Given the description of an element on the screen output the (x, y) to click on. 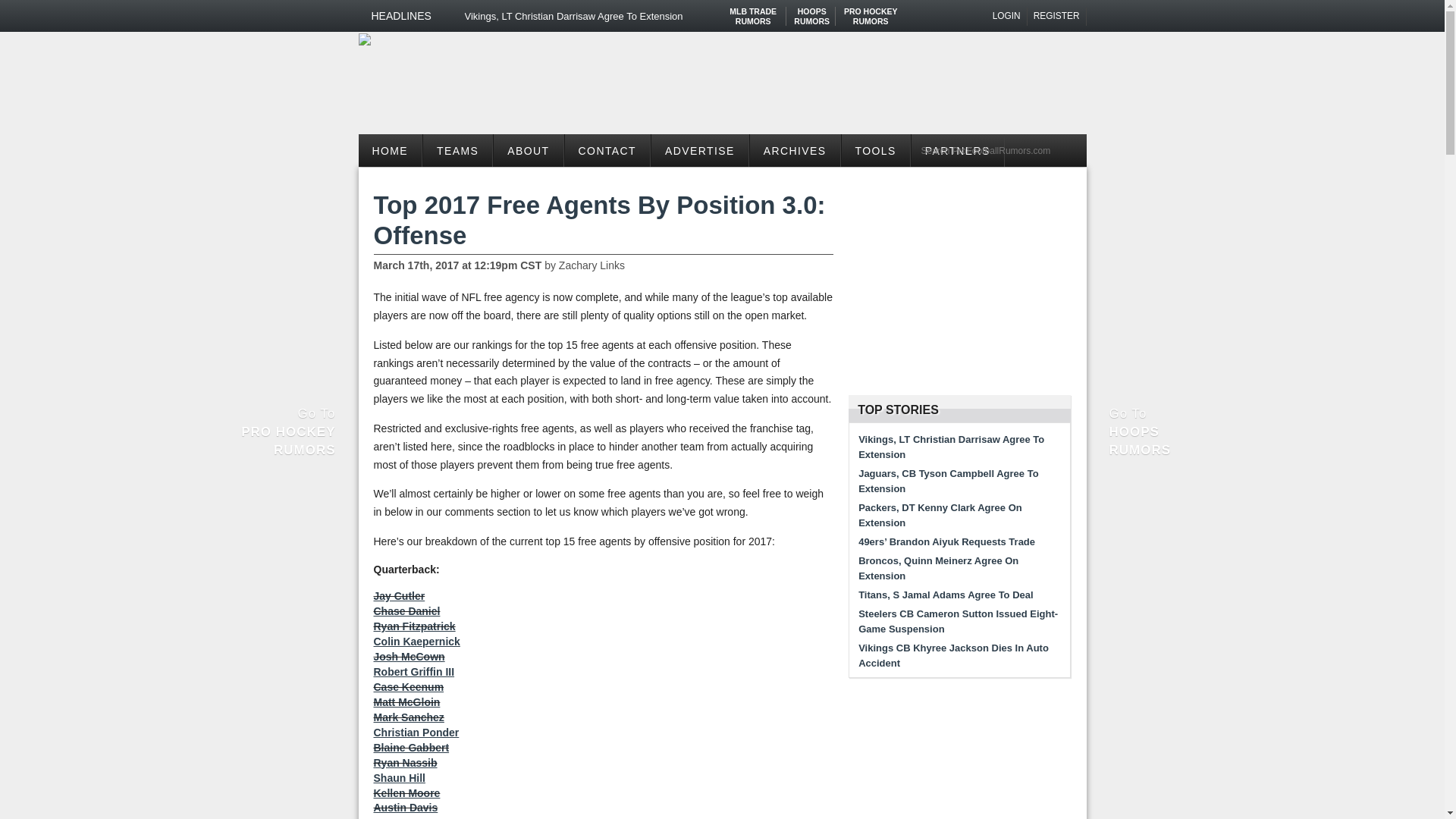
REGISTER (811, 11)
Search (870, 11)
TEAMS (1056, 16)
Search for: (457, 150)
Pro Football Rumors (1007, 16)
HOME (999, 150)
Vikings, LT Christian Darrisaw Agree To Extension (363, 38)
